Given the description of an element on the screen output the (x, y) to click on. 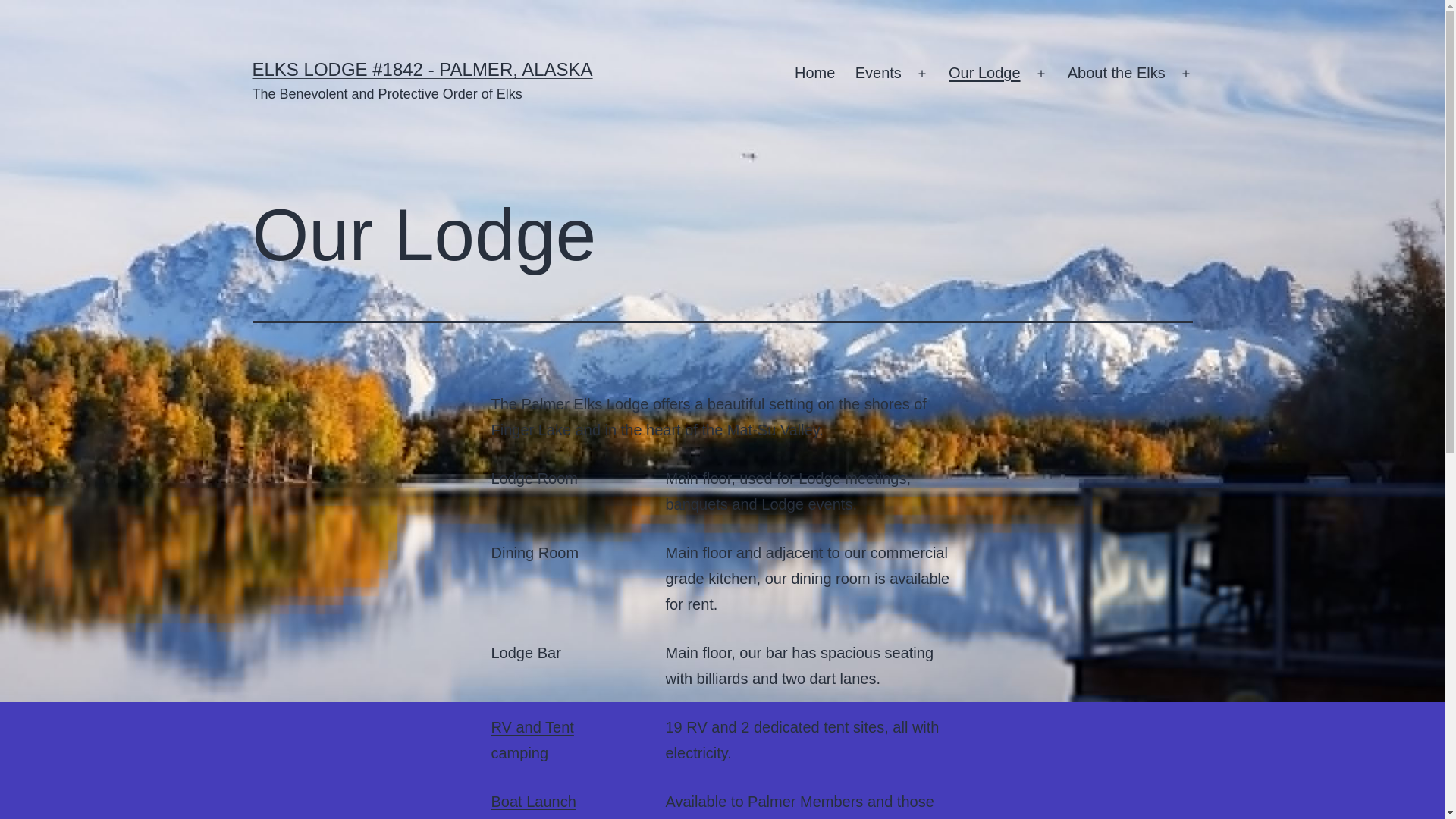
Our Lodge (984, 73)
Home (814, 73)
RV and Tent camping (532, 740)
Events (877, 73)
About the Elks (1116, 73)
Boat Launch (534, 801)
